Given the description of an element on the screen output the (x, y) to click on. 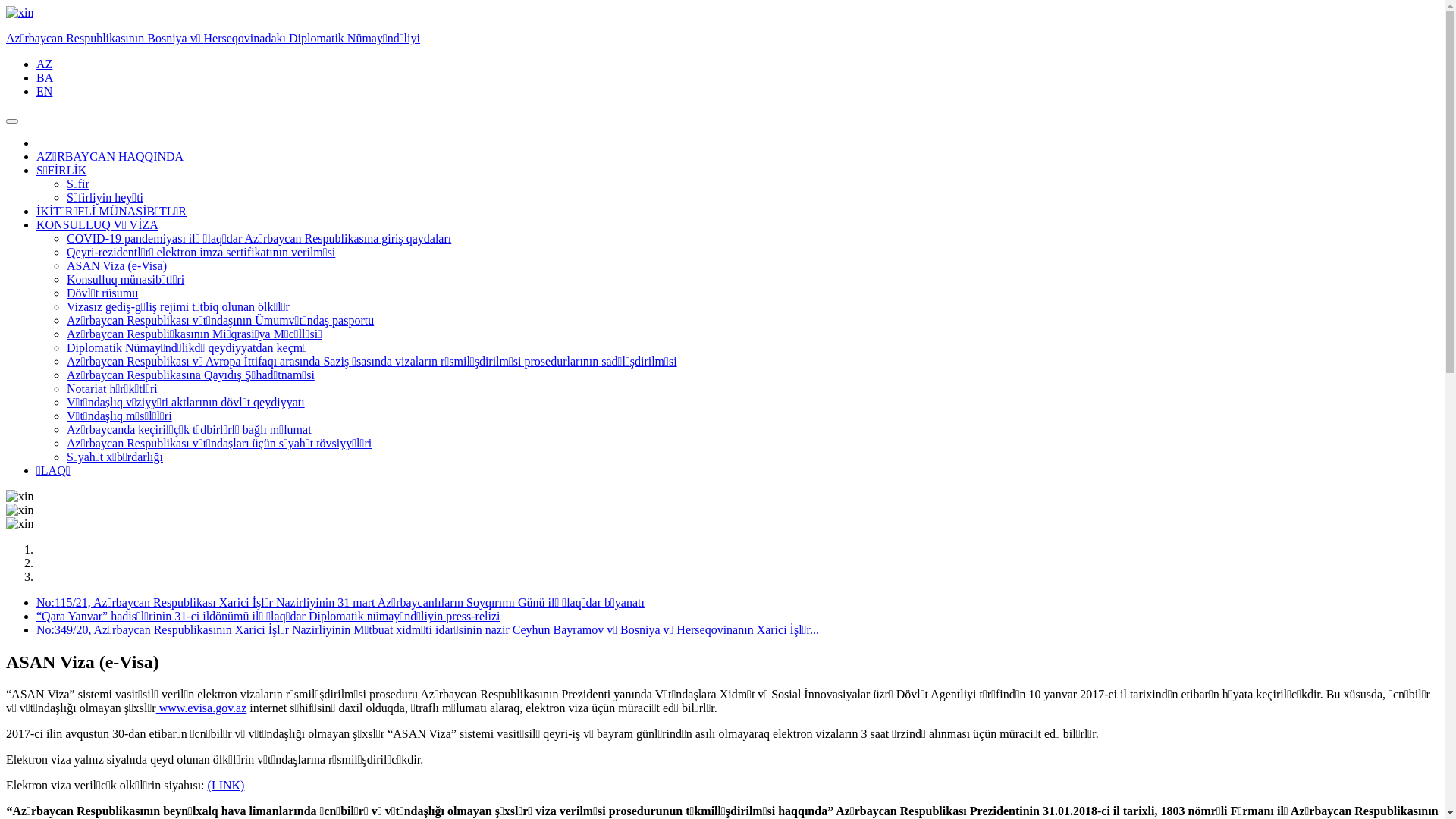
 www.evisa.gov.az Element type: text (201, 707)
ASAN Viza (e-Visa) Element type: text (116, 265)
EN Element type: text (44, 90)
(LINK) Element type: text (225, 784)
AZ Element type: text (44, 63)
BA Element type: text (44, 77)
